Given the description of an element on the screen output the (x, y) to click on. 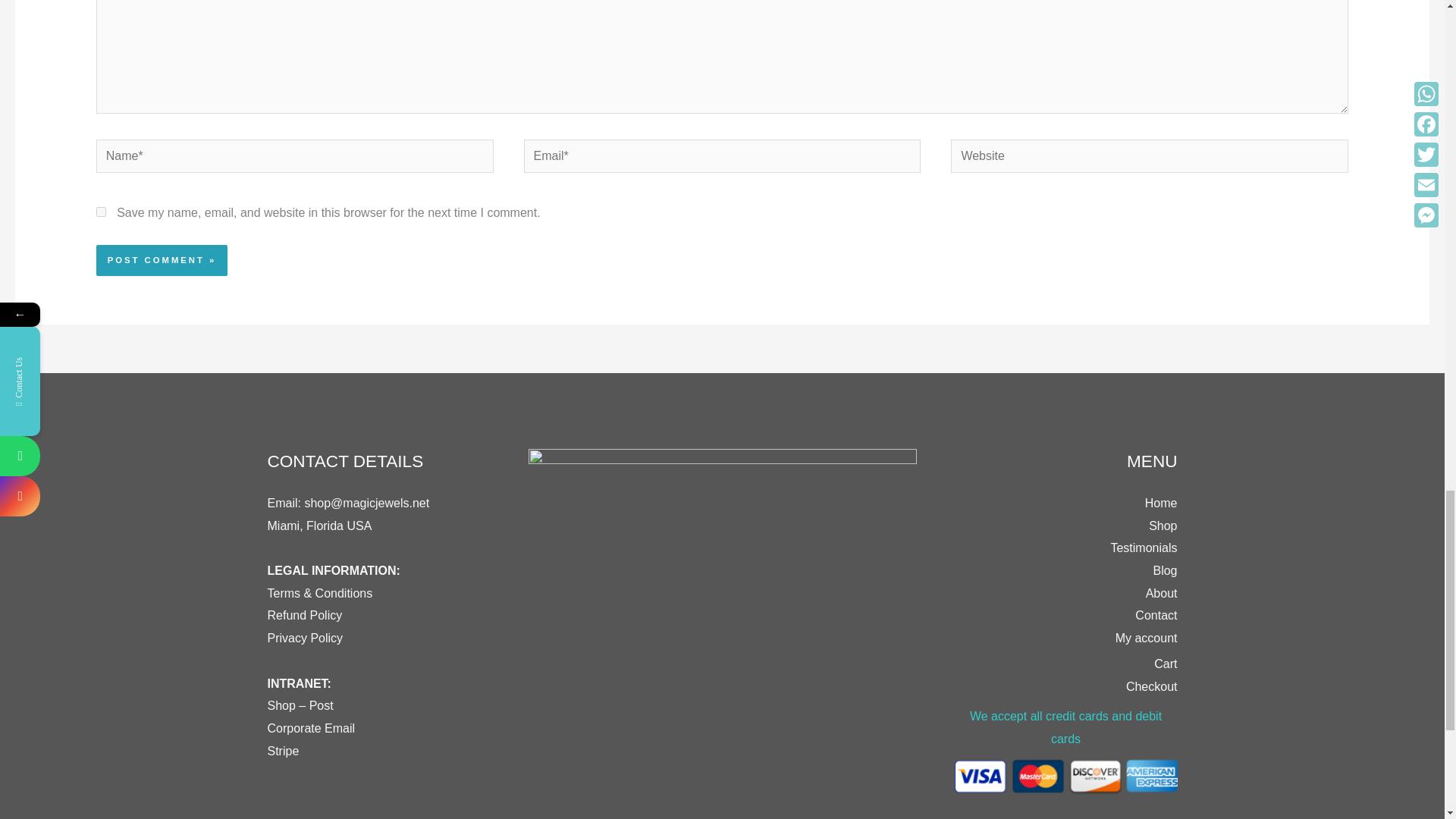
Miami, Florida USA (318, 525)
LEGAL INFORMATION: (332, 581)
yes (101, 212)
